Given the description of an element on the screen output the (x, y) to click on. 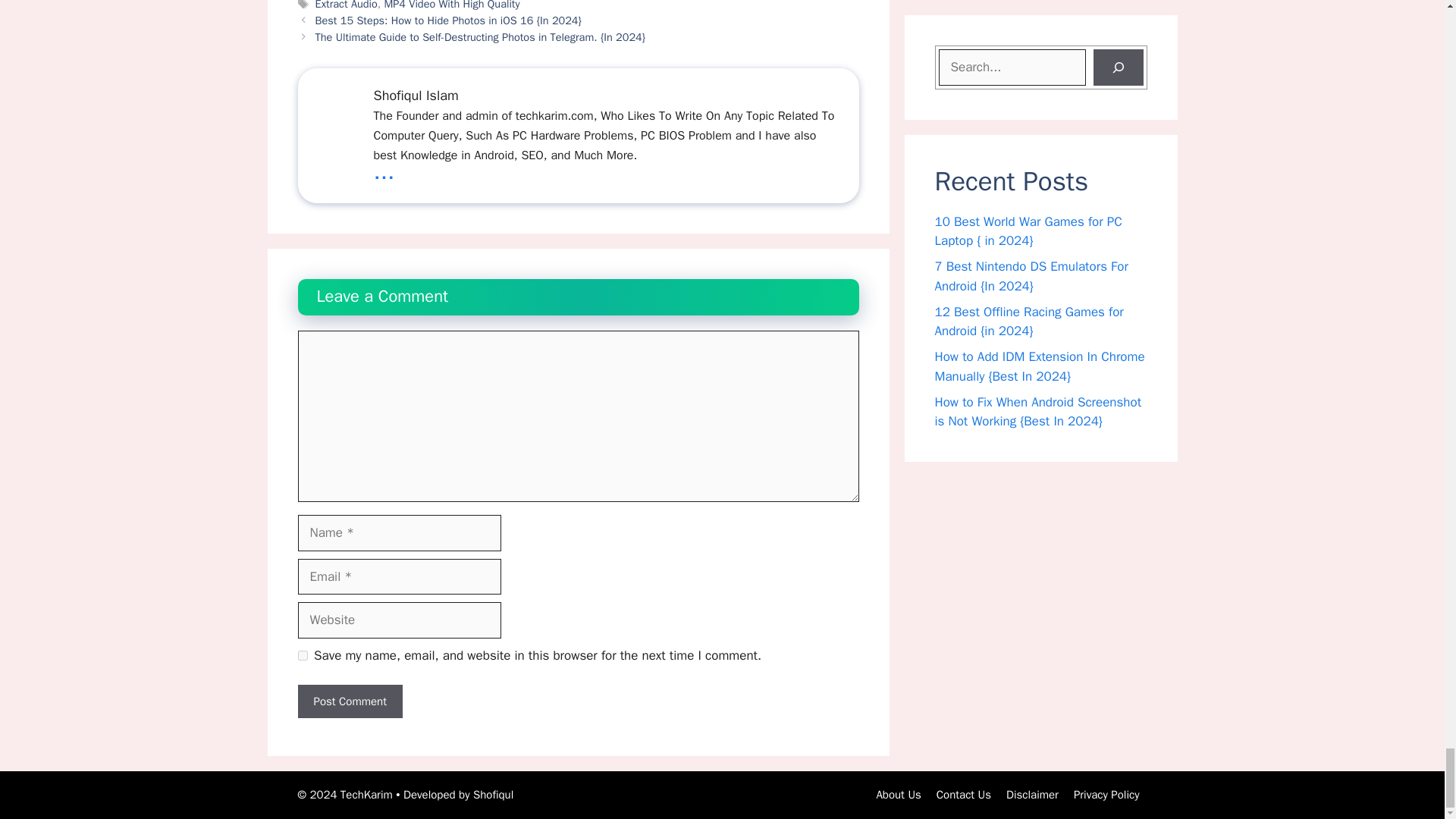
yes (302, 655)
Post Comment (349, 701)
